Given the description of an element on the screen output the (x, y) to click on. 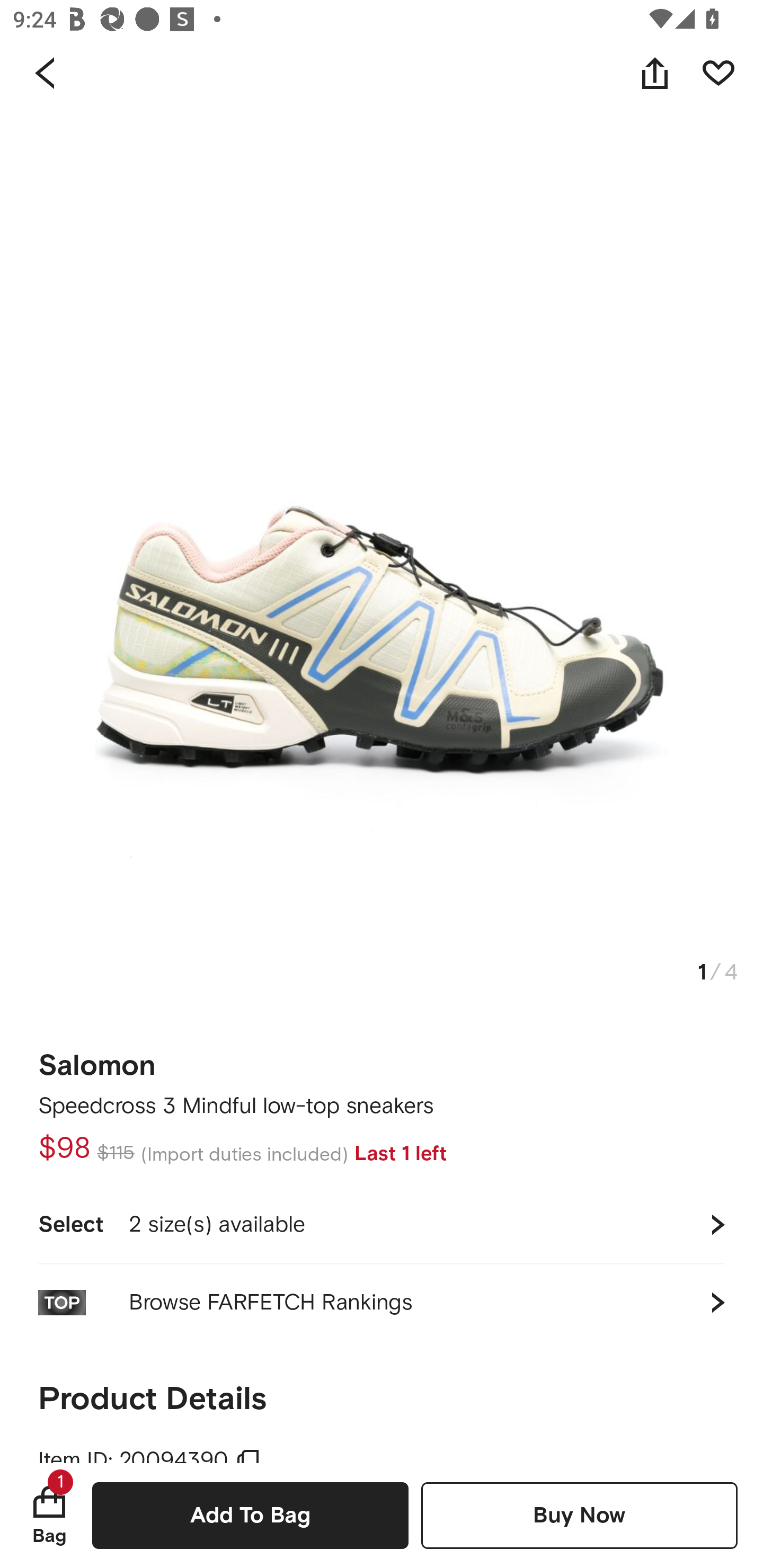
Salomon (97, 1059)
Select 2 size(s) available (381, 1224)
Browse FARFETCH Rankings (381, 1301)
Bag 1 (49, 1515)
Add To Bag (250, 1515)
Buy Now (579, 1515)
